Given the description of an element on the screen output the (x, y) to click on. 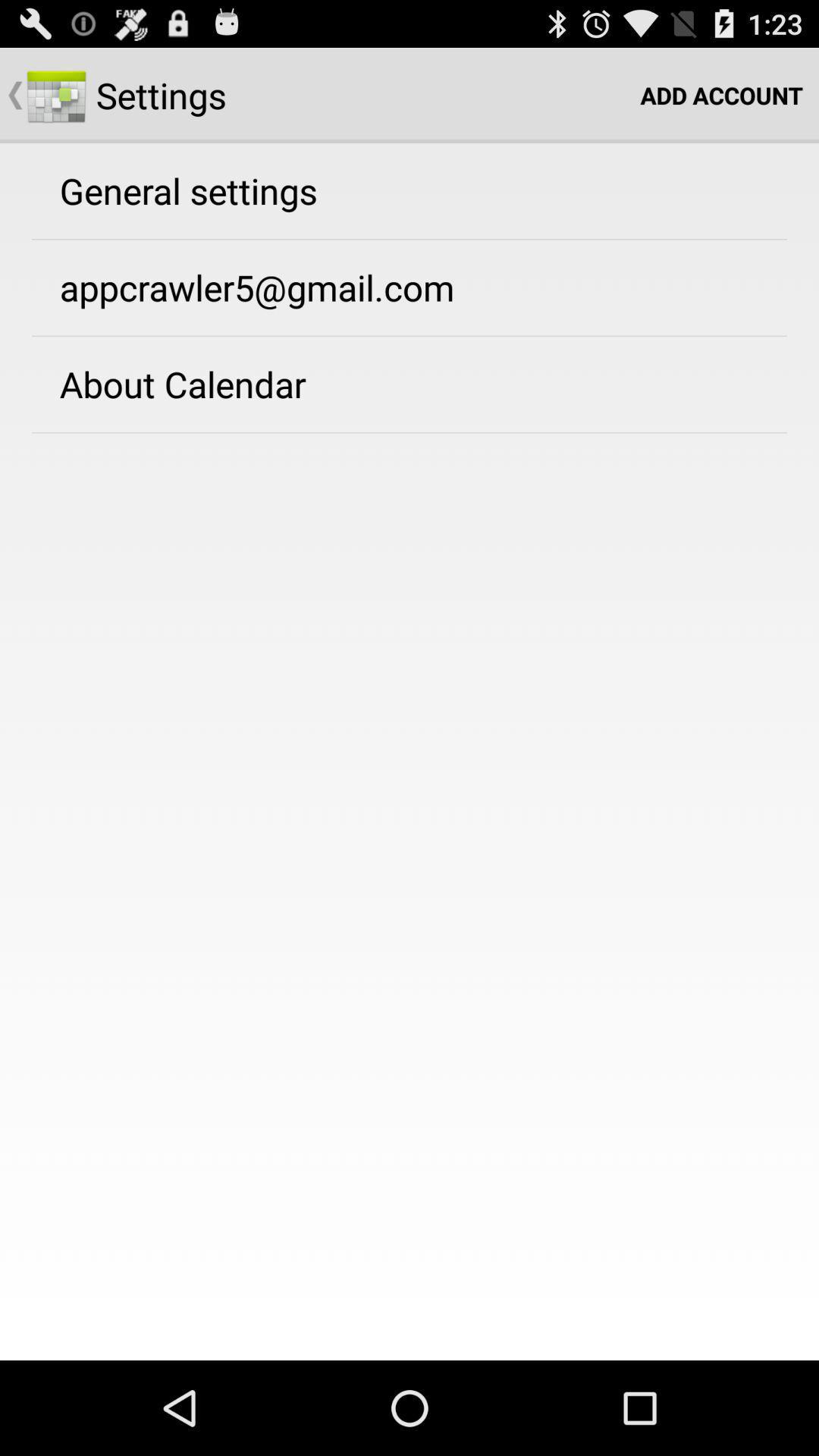
scroll until the about calendar icon (182, 384)
